Given the description of an element on the screen output the (x, y) to click on. 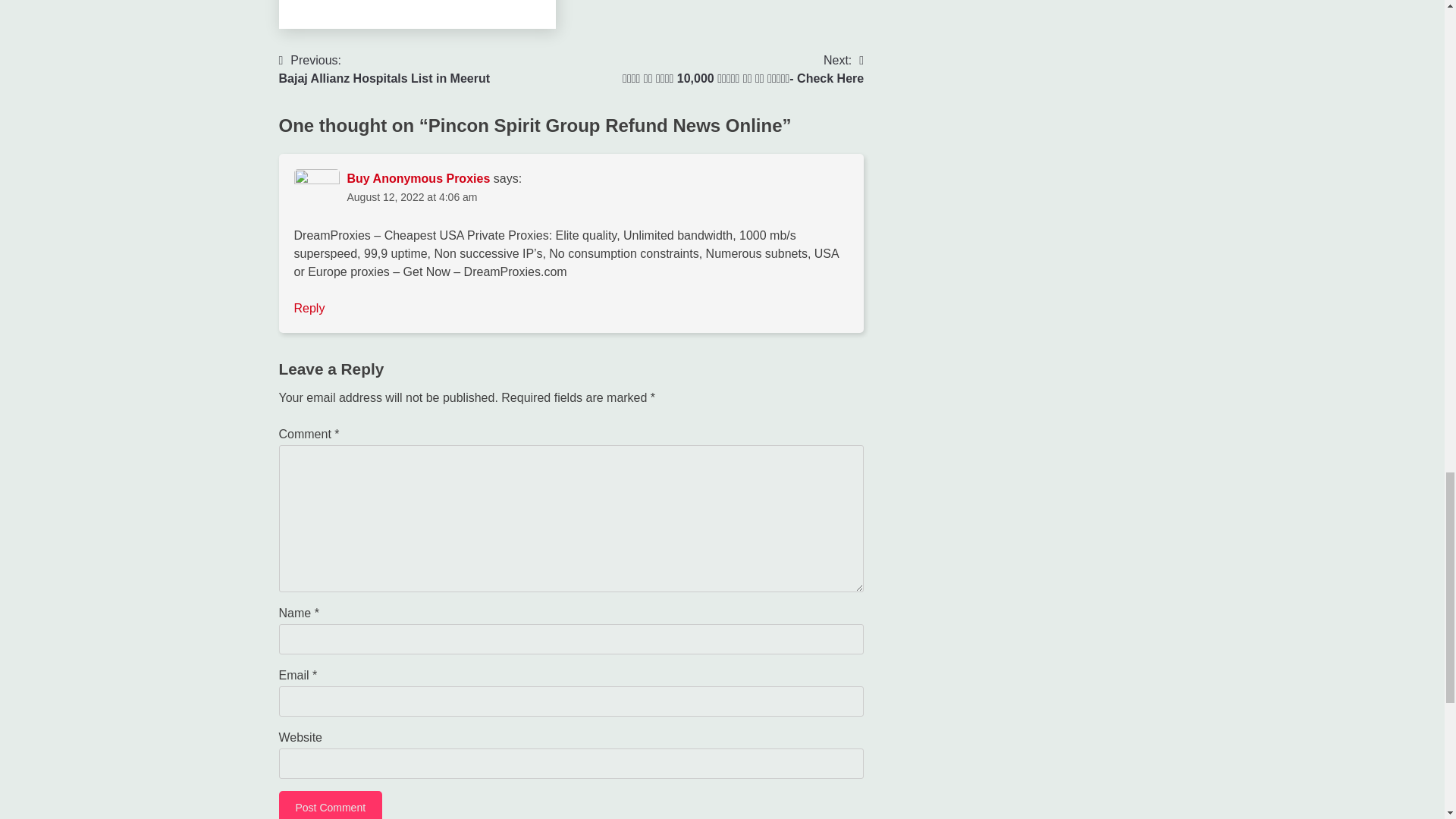
August 12, 2022 at 4:06 am (384, 69)
Reply (412, 196)
Buy Anonymous Proxies (309, 308)
Post Comment (418, 178)
